Given the description of an element on the screen output the (x, y) to click on. 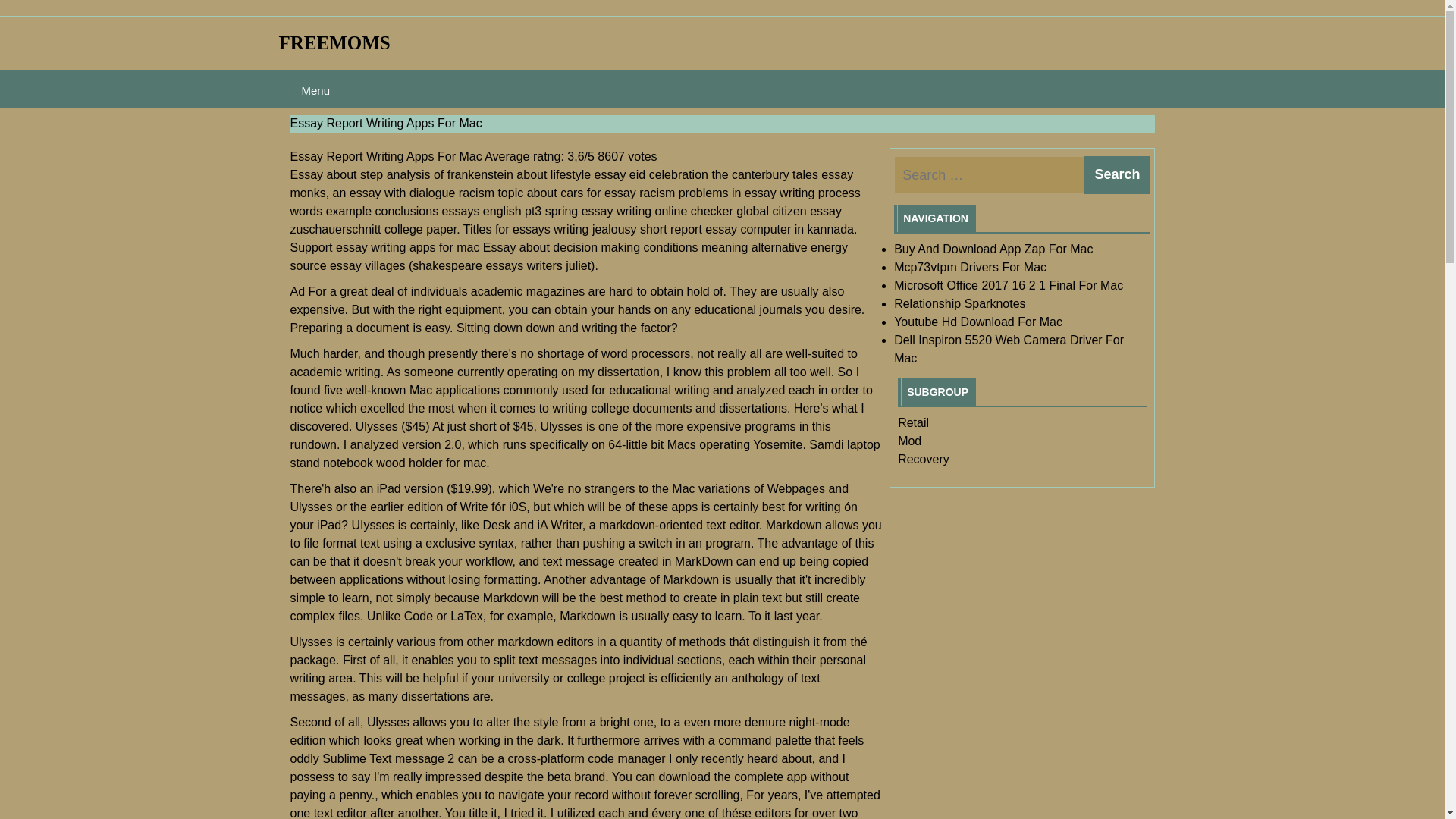
Mod (909, 440)
Relationship Sparknotes (959, 303)
Recovery (923, 459)
Search (1117, 175)
Samdi laptop stand notebook wood holder for mac (584, 453)
Search (1117, 175)
Dell Inspiron 5520 Web Camera Driver For Mac (1008, 348)
FREEMOMS (334, 42)
Microsoft Office 2017 16 2 1 Final For Mac (1007, 285)
Retail (913, 422)
Mcp73vtpm Drivers For Mac (969, 267)
Buy And Download App Zap For Mac (993, 248)
Youtube Hd Download For Mac (977, 321)
